Given the description of an element on the screen output the (x, y) to click on. 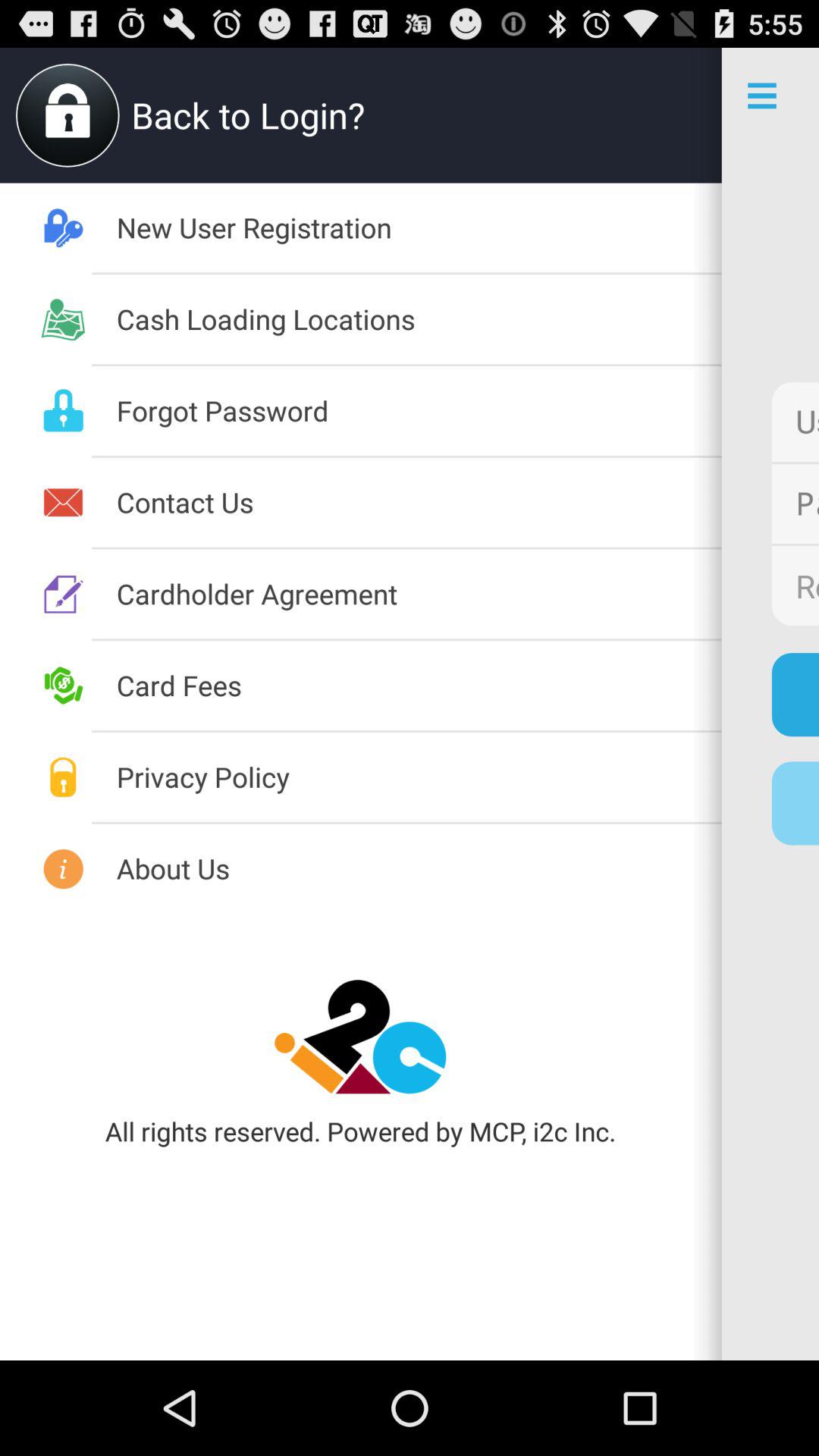
jump to log in icon (795, 694)
